Given the description of an element on the screen output the (x, y) to click on. 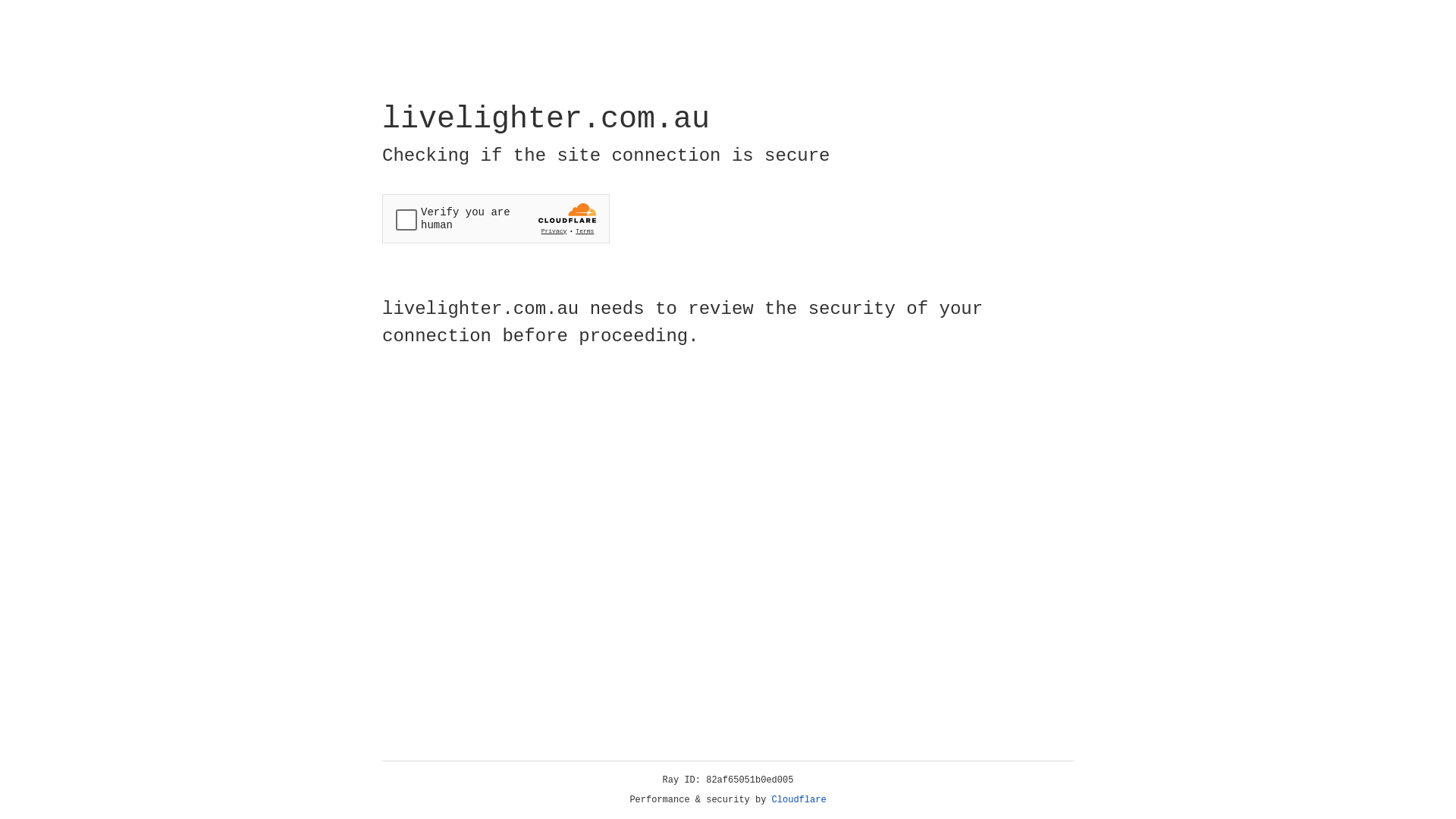
Cloudflare Element type: text (798, 799)
Widget containing a Cloudflare security challenge Element type: hover (495, 218)
